Given the description of an element on the screen output the (x, y) to click on. 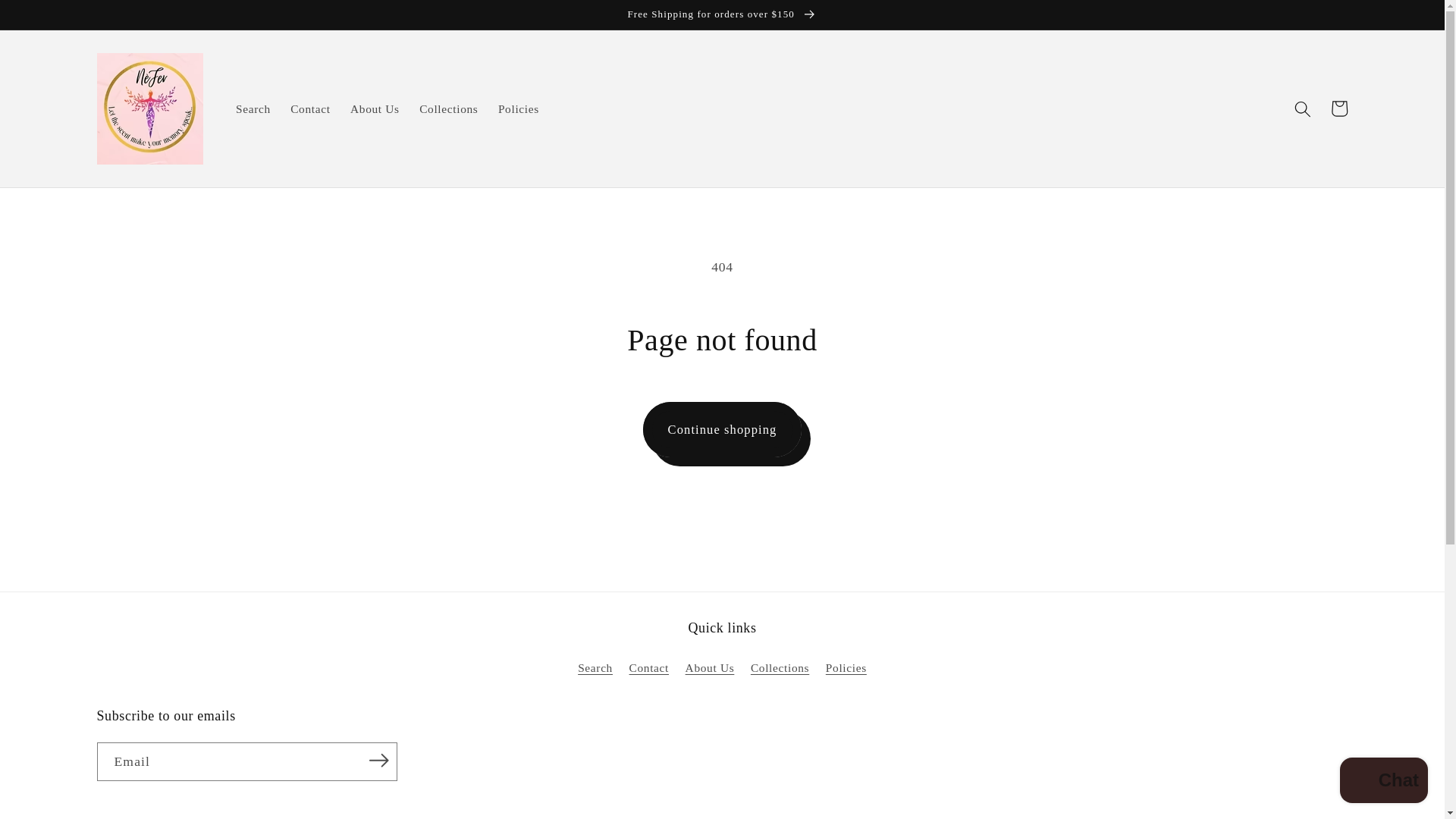
Search (253, 108)
About Us (710, 668)
Search (595, 670)
Shopify online store chat (1383, 781)
Collections (448, 108)
Continue shopping (722, 429)
Policies (845, 668)
Policies (517, 108)
Contact (648, 668)
Contact (310, 108)
